Given the description of an element on the screen output the (x, y) to click on. 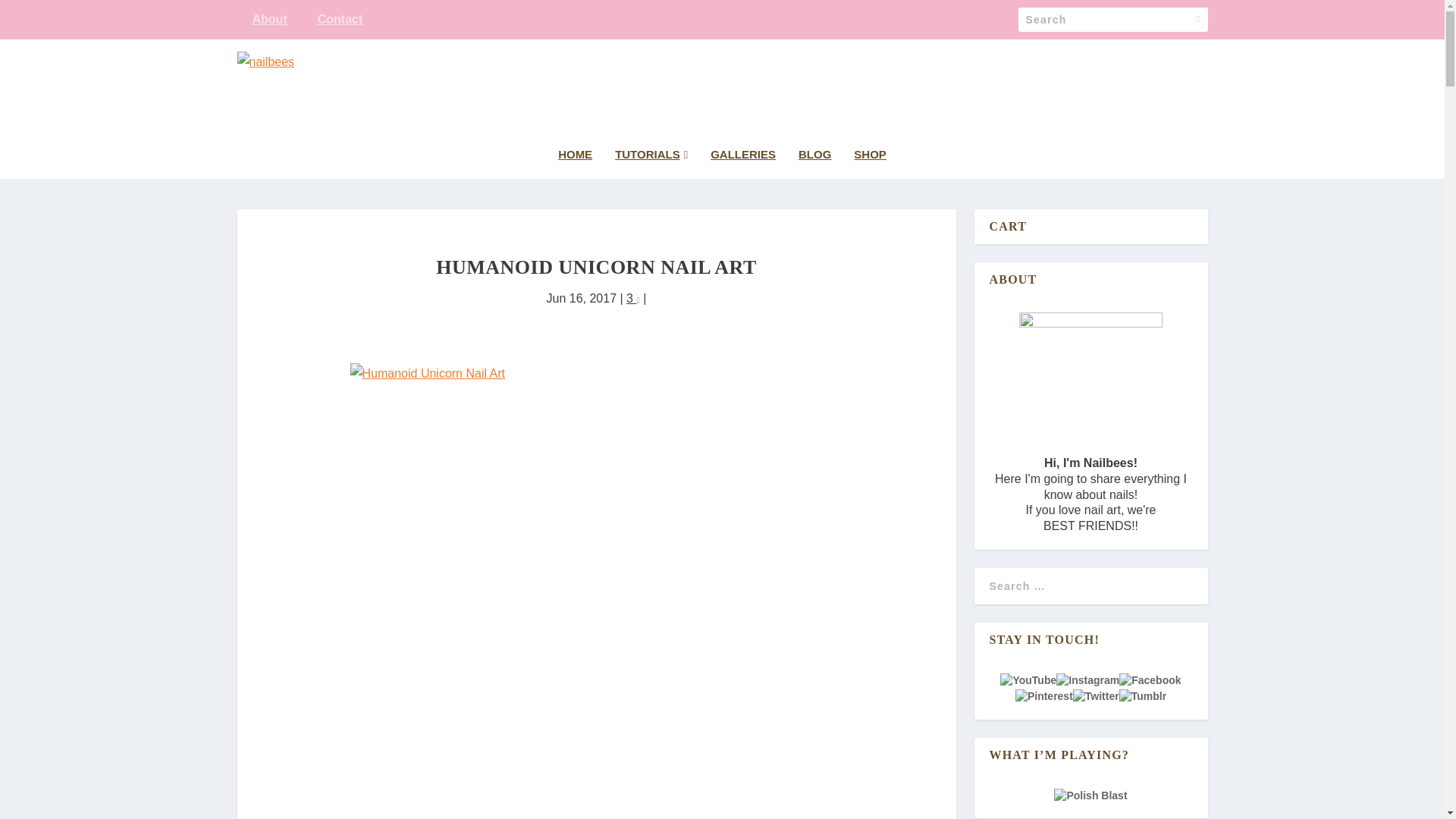
3 (633, 297)
Search for: (1112, 19)
BLOG (814, 163)
HOME (574, 163)
TUTORIALS (650, 163)
GALLERIES (743, 163)
SHOP (869, 163)
Contact (339, 19)
